Given the description of an element on the screen output the (x, y) to click on. 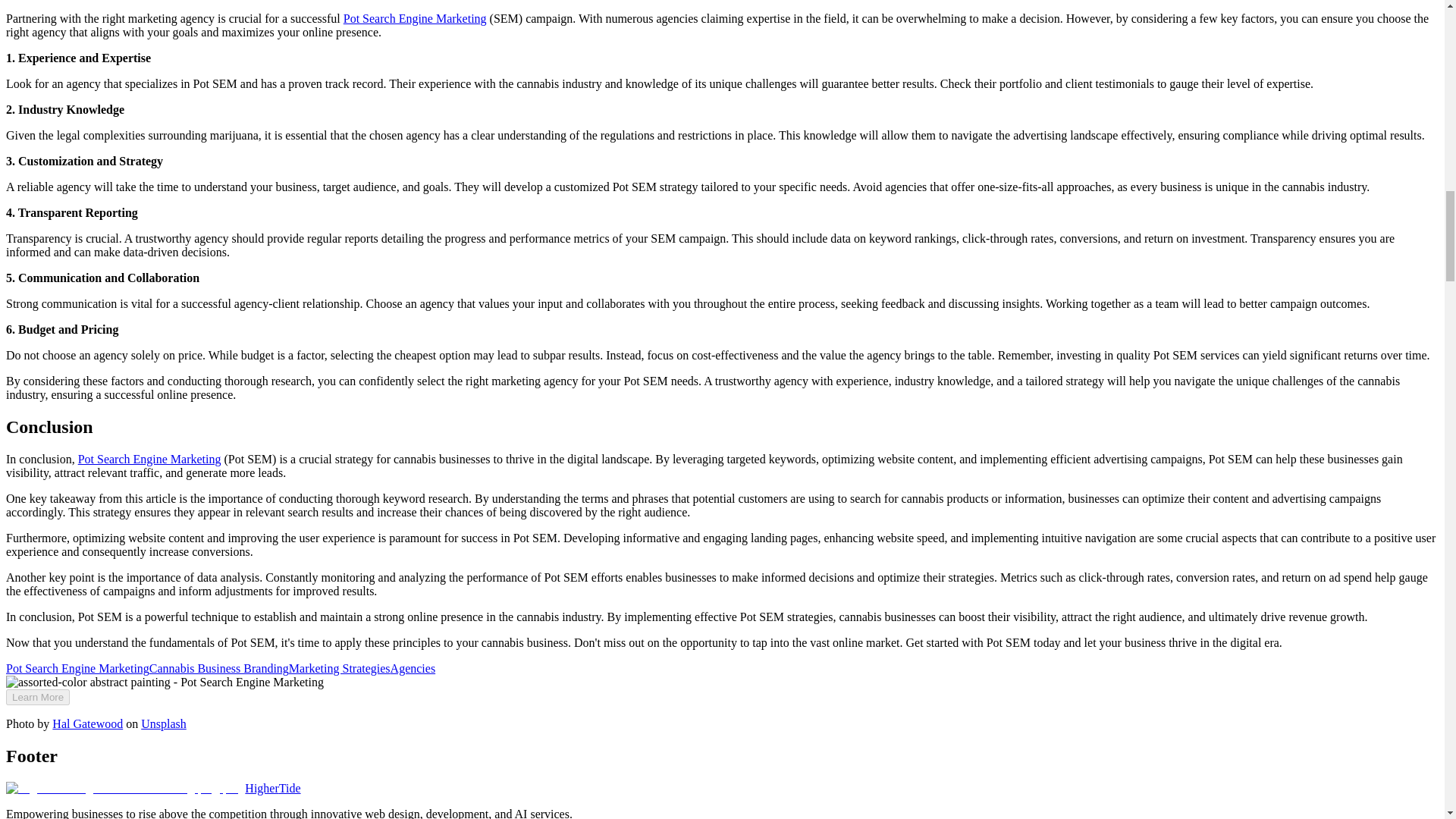
Marketing Strategies (339, 667)
Hal Gatewood (87, 723)
Pot Search Engine Marketing (149, 459)
Pot Search Engine Marketing (77, 667)
Agencies (412, 667)
Pot Search Engine Marketing (414, 18)
Unsplash (163, 723)
Cannabis Business Branding (218, 667)
Learn More (37, 697)
